Given the description of an element on the screen output the (x, y) to click on. 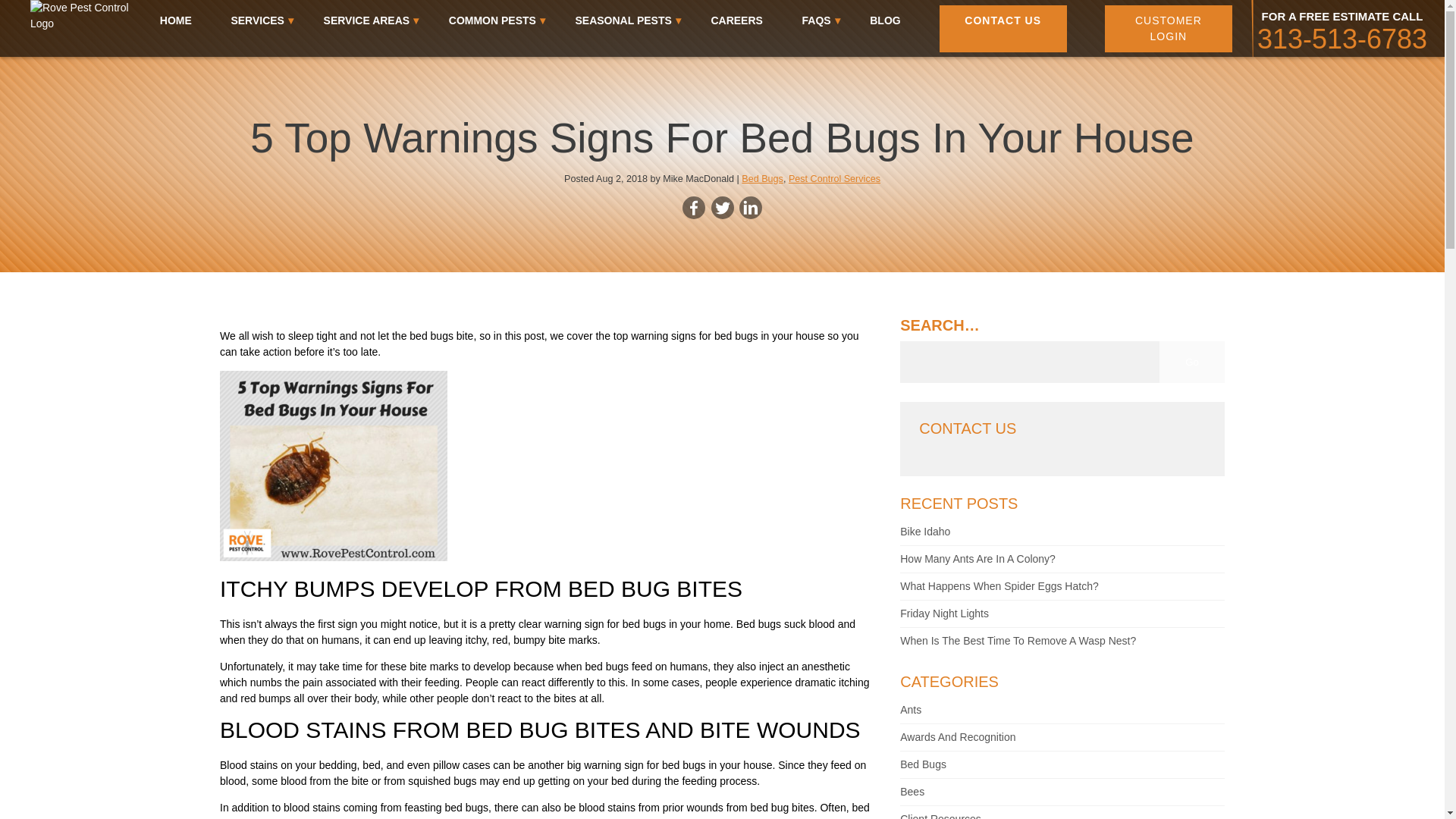
Share on LinkedIn (750, 207)
SERVICES (256, 19)
Go (1191, 362)
Go (1191, 362)
SERVICE AREAS (366, 19)
HOME (176, 19)
Share on Facebook (693, 207)
Share on Twitter (722, 207)
